Given the description of an element on the screen output the (x, y) to click on. 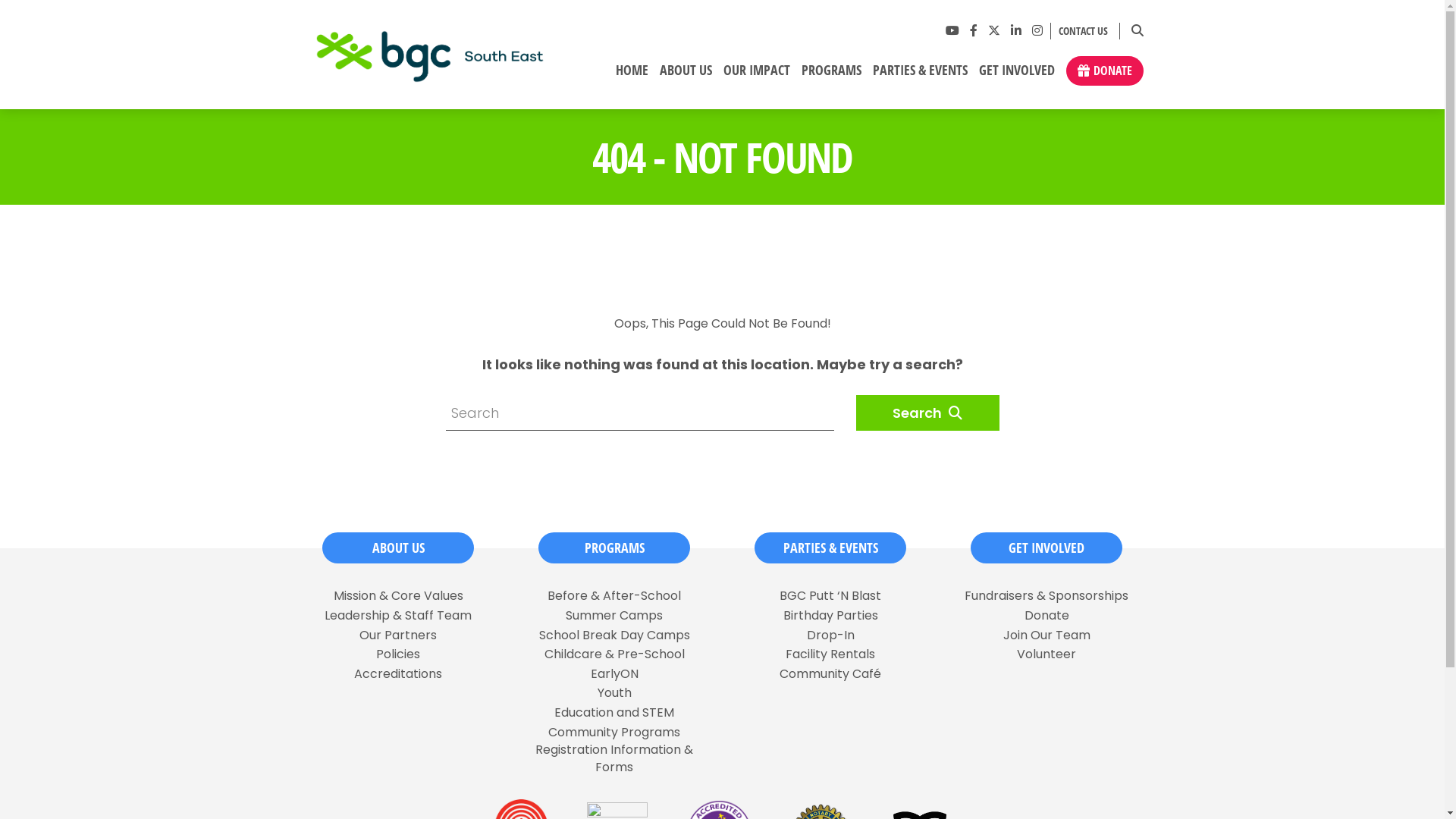
Mission & Core Values Element type: text (398, 595)
GET INVOLVED Element type: text (1016, 76)
Donate Element type: text (1045, 615)
EarlyON Element type: text (613, 673)
CONTACT US Element type: text (1079, 31)
Facility Rentals Element type: text (830, 654)
Education and STEM Element type: text (614, 712)
School Break Day Camps Element type: text (613, 635)
Accreditations Element type: text (398, 673)
Community Programs Element type: text (614, 732)
ABOUT US Element type: text (397, 548)
Fundraisers & Sponsorships Element type: text (1046, 595)
Our Partners Element type: text (397, 635)
HOME Element type: text (631, 76)
Summer Camps Element type: text (613, 615)
DONATE Element type: text (1104, 70)
Childcare & Pre-School Element type: text (614, 654)
Join Our Team Element type: text (1045, 635)
Youth Element type: text (614, 692)
Volunteer Element type: text (1046, 654)
OUR IMPACT Element type: text (756, 76)
ABOUT US Element type: text (685, 76)
PARTIES & EVENTS Element type: text (830, 548)
PROGRAMS Element type: text (830, 76)
Search Element type: text (926, 412)
Registration Information & Forms Element type: text (613, 758)
Leadership & Staff Team Element type: text (397, 615)
GET INVOLVED Element type: text (1046, 548)
PARTIES & EVENTS Element type: text (919, 76)
PROGRAMS Element type: text (614, 548)
Birthday Parties Element type: text (829, 615)
Drop-In Element type: text (830, 635)
Policies Element type: text (398, 654)
Before & After-School Element type: text (613, 595)
